Given the description of an element on the screen output the (x, y) to click on. 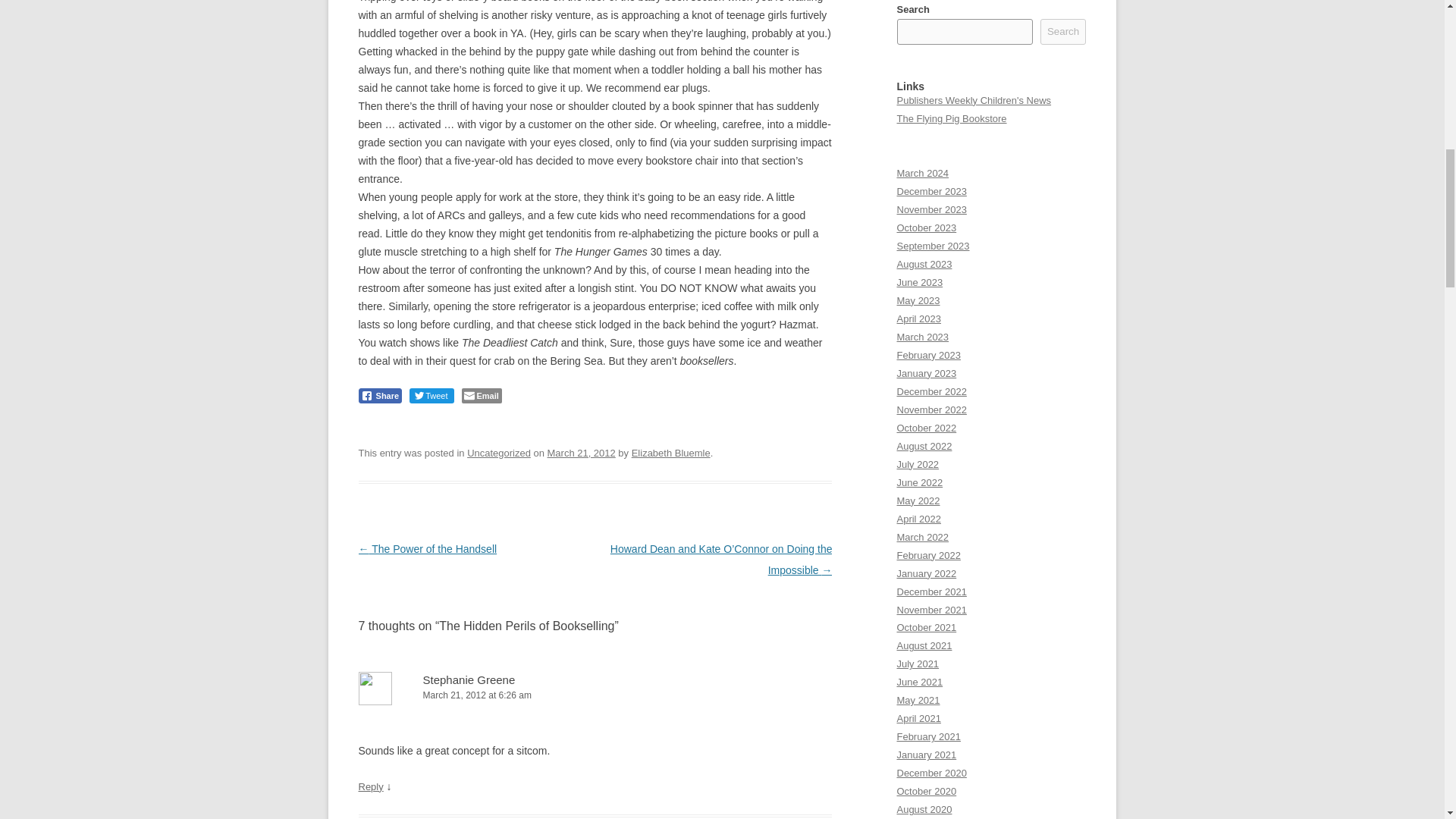
Elizabeth Bluemle (670, 452)
Uncategorized (499, 452)
March 21, 2012 at 6:26 am (594, 695)
View all posts by Elizabeth Bluemle (670, 452)
Email (480, 395)
Share (379, 395)
6:00 am (581, 452)
Stephanie Greene (469, 679)
Tweet (430, 395)
March 21, 2012 (581, 452)
